Given the description of an element on the screen output the (x, y) to click on. 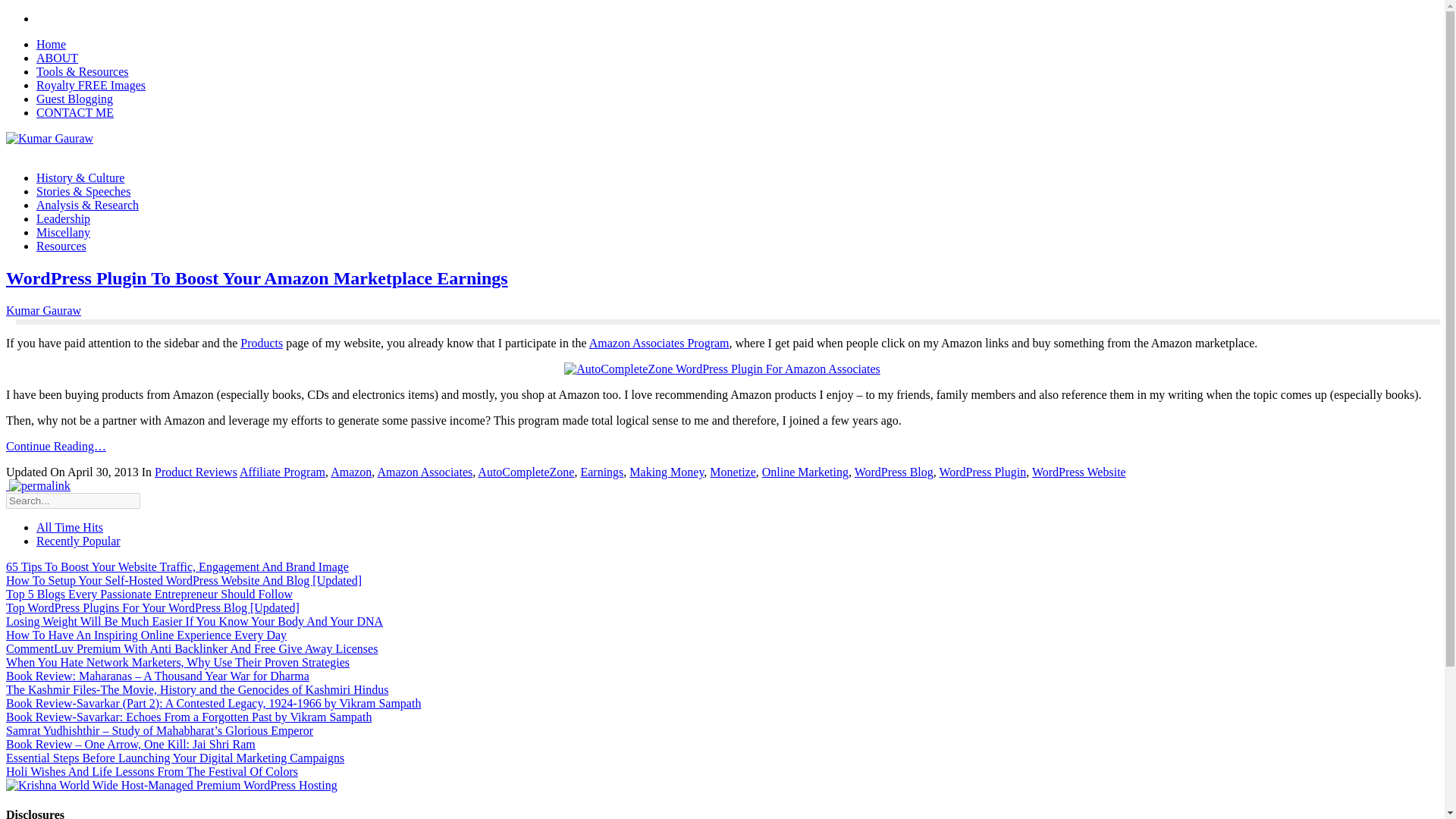
Earnings (601, 472)
Royalty FREE Images (90, 84)
WordPress Plugin (982, 472)
Leadership (63, 218)
Making Money (665, 472)
WordPress Blog (893, 472)
Resources (60, 245)
CONTACT ME (74, 112)
Miscellany (63, 232)
Product Reviews (195, 472)
Online Marketing (804, 472)
Affiliate Program (282, 472)
Amazon Associates (424, 472)
Recently Popular (78, 540)
Top 5 Blogs Every Passionate Entrepreneur Should Follow (148, 594)
